Given the description of an element on the screen output the (x, y) to click on. 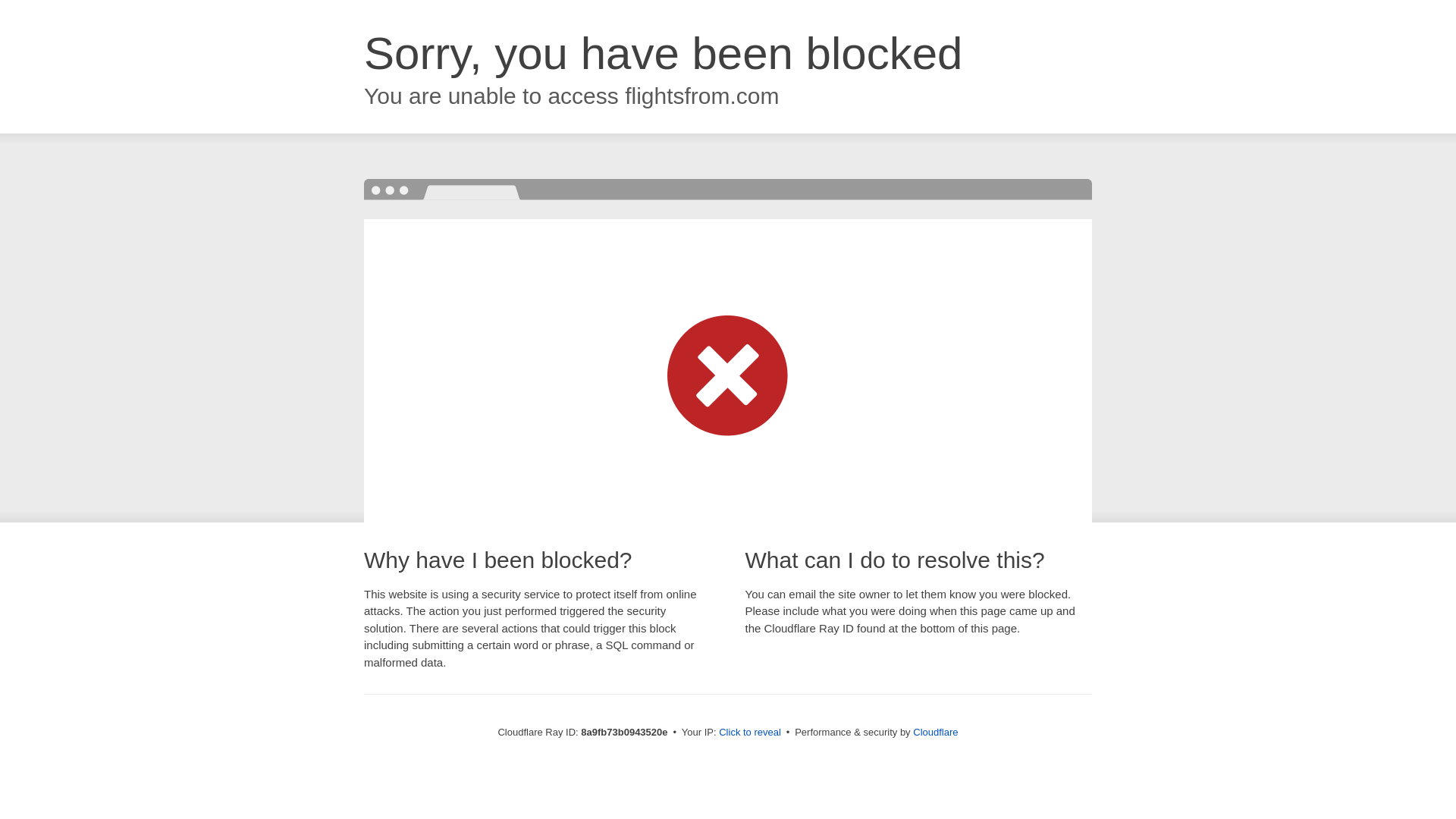
Click to reveal (749, 732)
Cloudflare (935, 731)
